Given the description of an element on the screen output the (x, y) to click on. 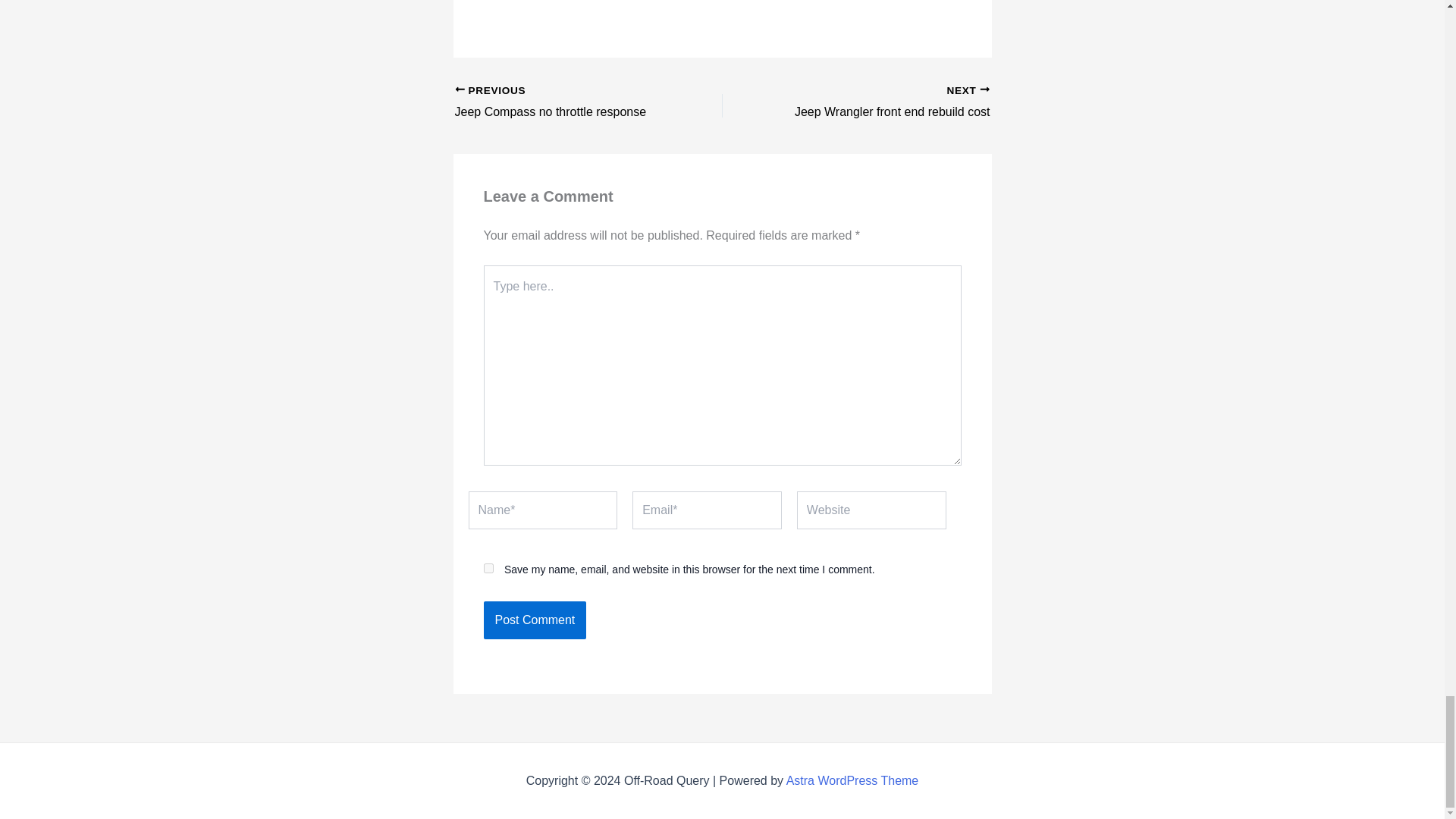
yes (488, 568)
Jeep Wrangler front end rebuild cost (882, 102)
Jeep Compass no throttle response (561, 102)
Astra WordPress Theme (561, 102)
Post Comment (852, 780)
Post Comment (882, 102)
